Given the description of an element on the screen output the (x, y) to click on. 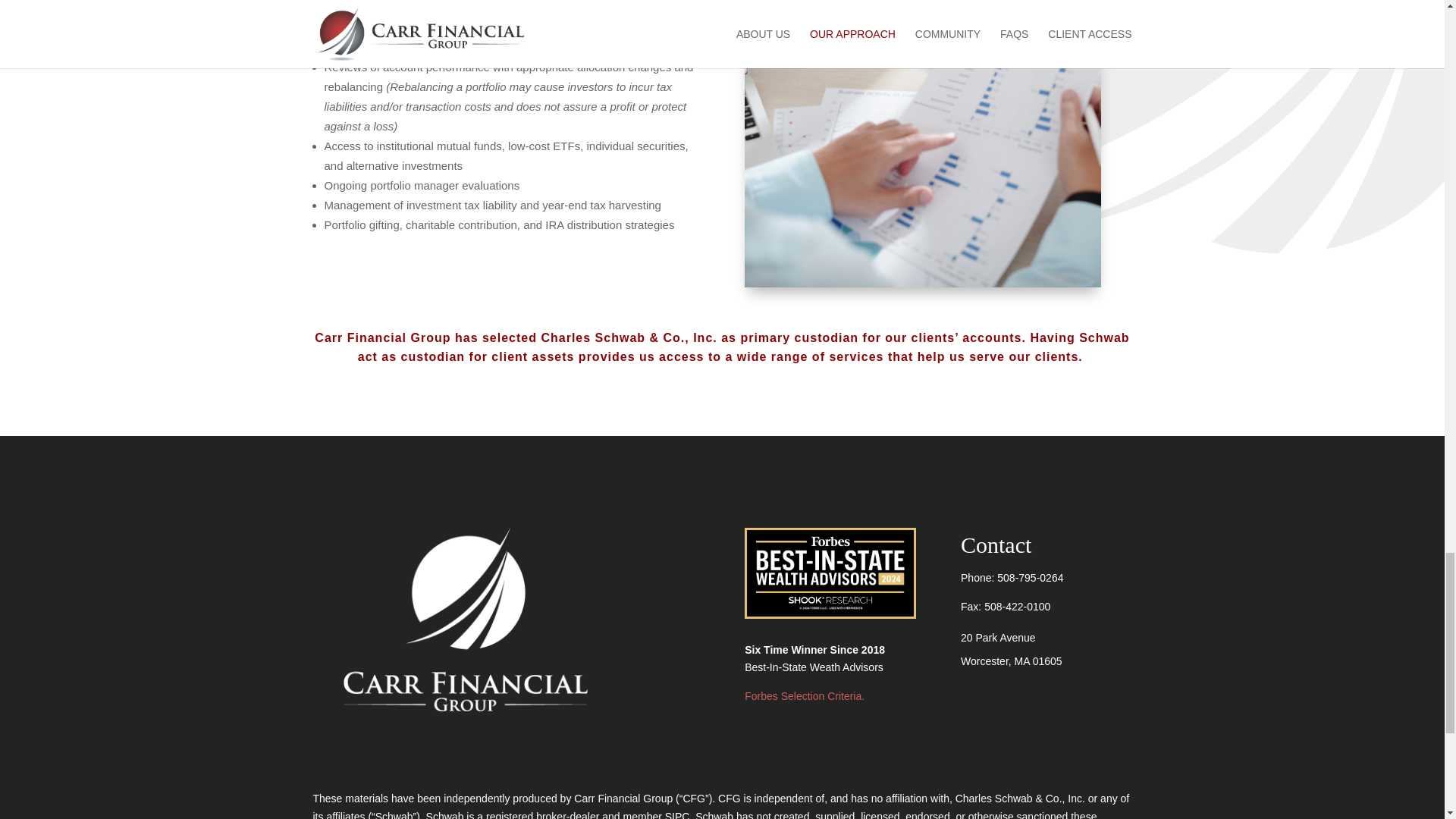
Colleagues Discussing Data in Charts (922, 143)
CARR-LogoStacked-White (465, 619)
phone (1029, 577)
Forbes Selection Criteria. (804, 695)
fax (1016, 606)
20 Park Avenue (997, 637)
Worcester, MA 01605 (1011, 661)
